Given the description of an element on the screen output the (x, y) to click on. 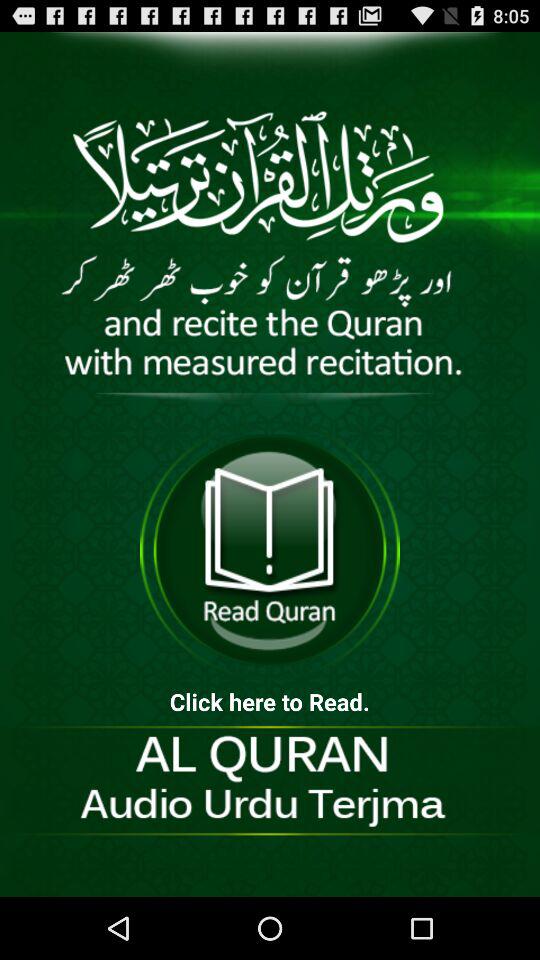
read (270, 550)
